Given the description of an element on the screen output the (x, y) to click on. 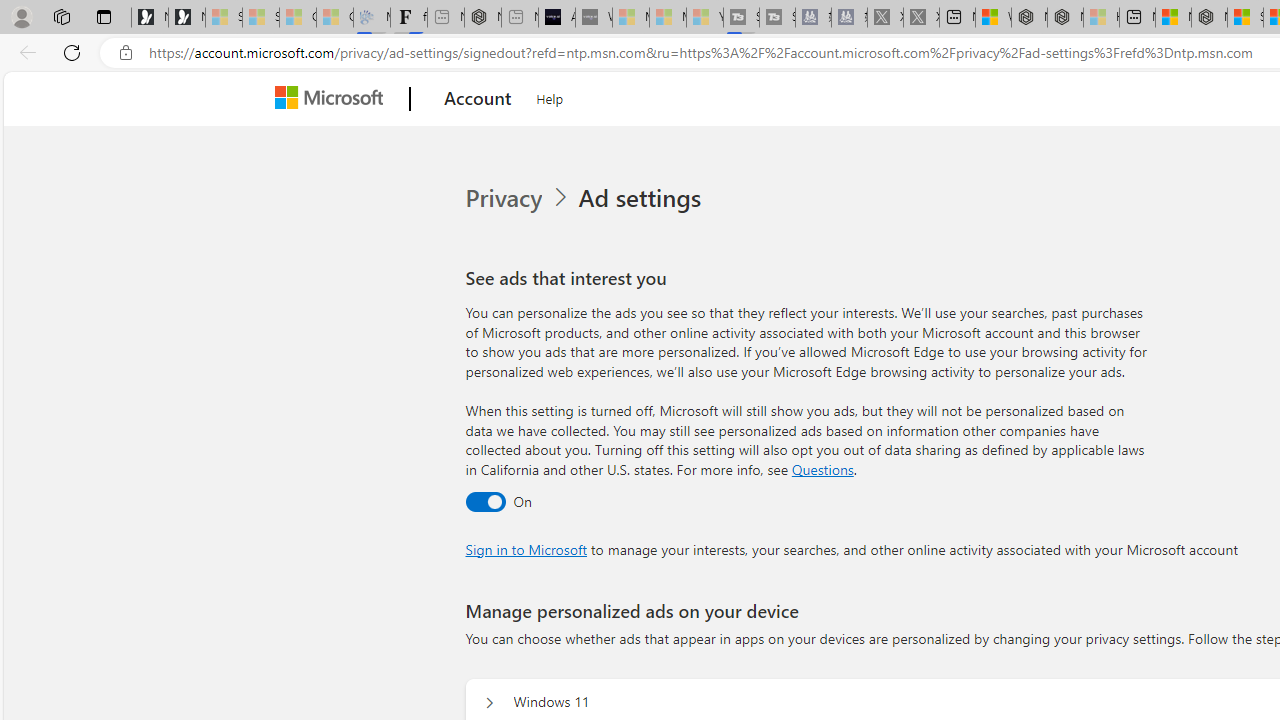
Privacy (519, 197)
Help (550, 96)
What's the best AI voice generator? - voice.ai - Sleeping (593, 17)
Manage personalized ads on your device Windows 11 (489, 702)
Newsletter Sign Up (186, 17)
Go to Questions section (822, 468)
Microsoft Start Sports - Sleeping (630, 17)
